Given the description of an element on the screen output the (x, y) to click on. 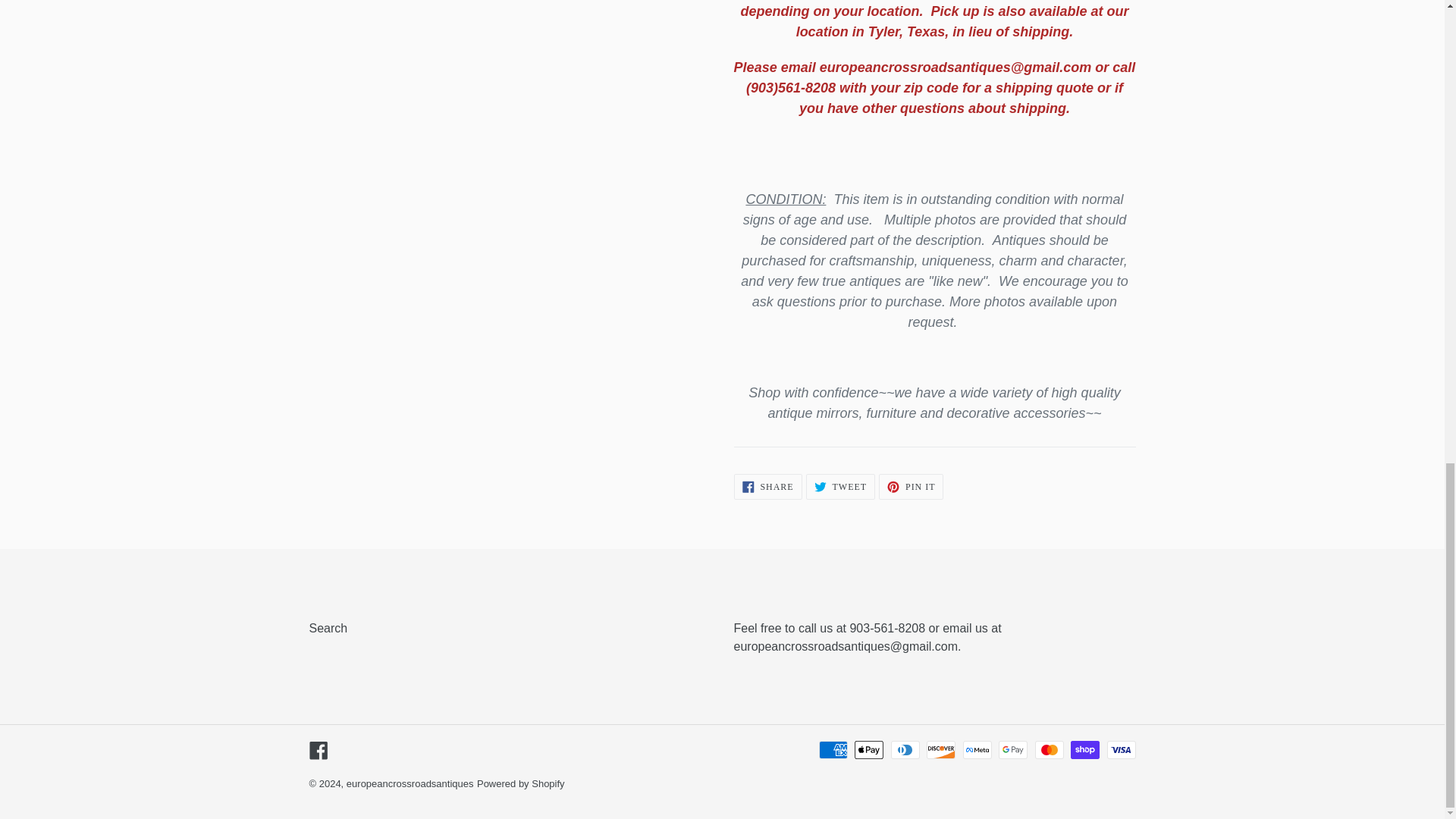
Powered by Shopify (520, 783)
europeancrossroadsantiques (911, 486)
Facebook (767, 486)
Search (840, 486)
